Given the description of an element on the screen output the (x, y) to click on. 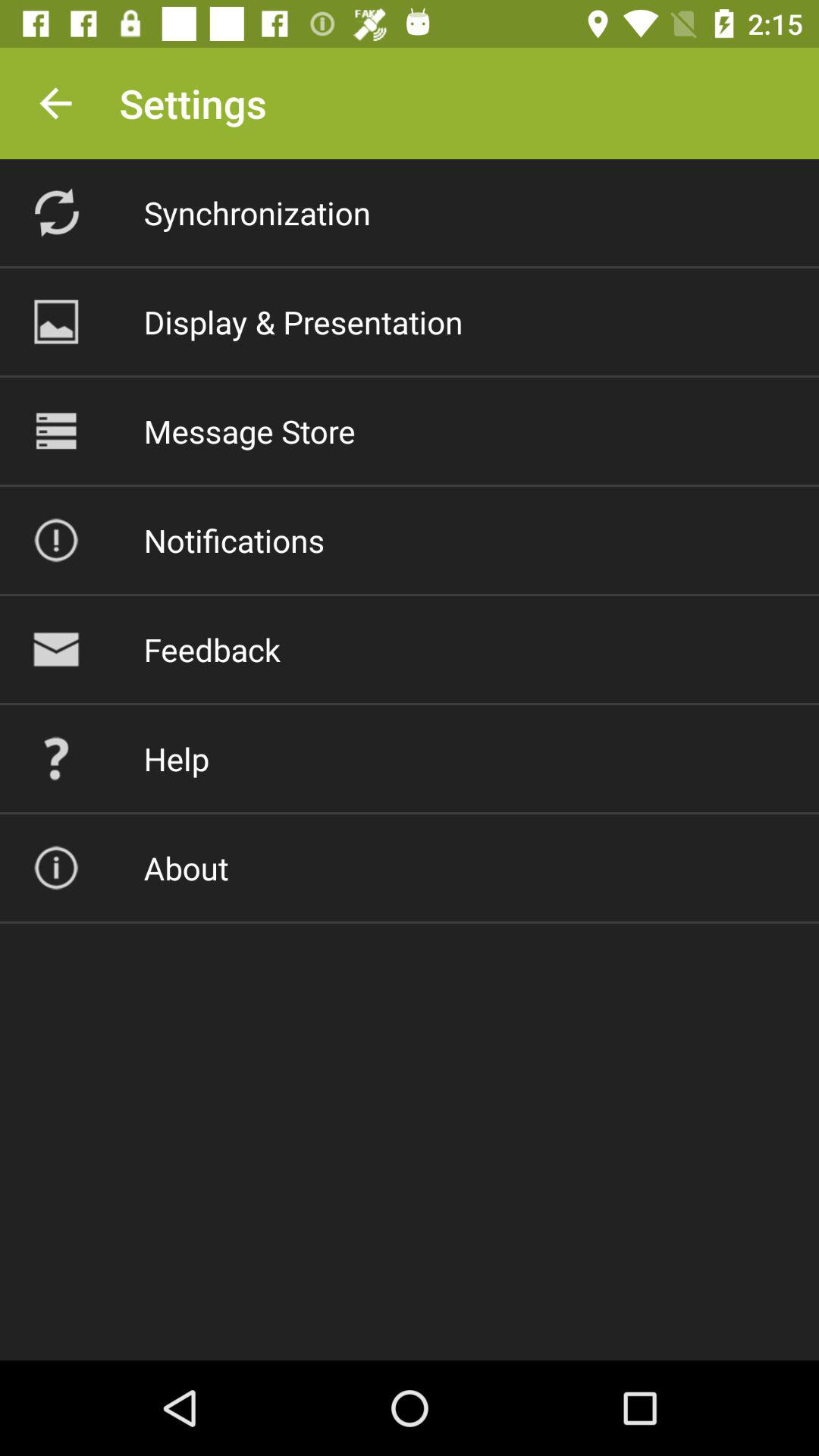
tap the message store (249, 430)
